Given the description of an element on the screen output the (x, y) to click on. 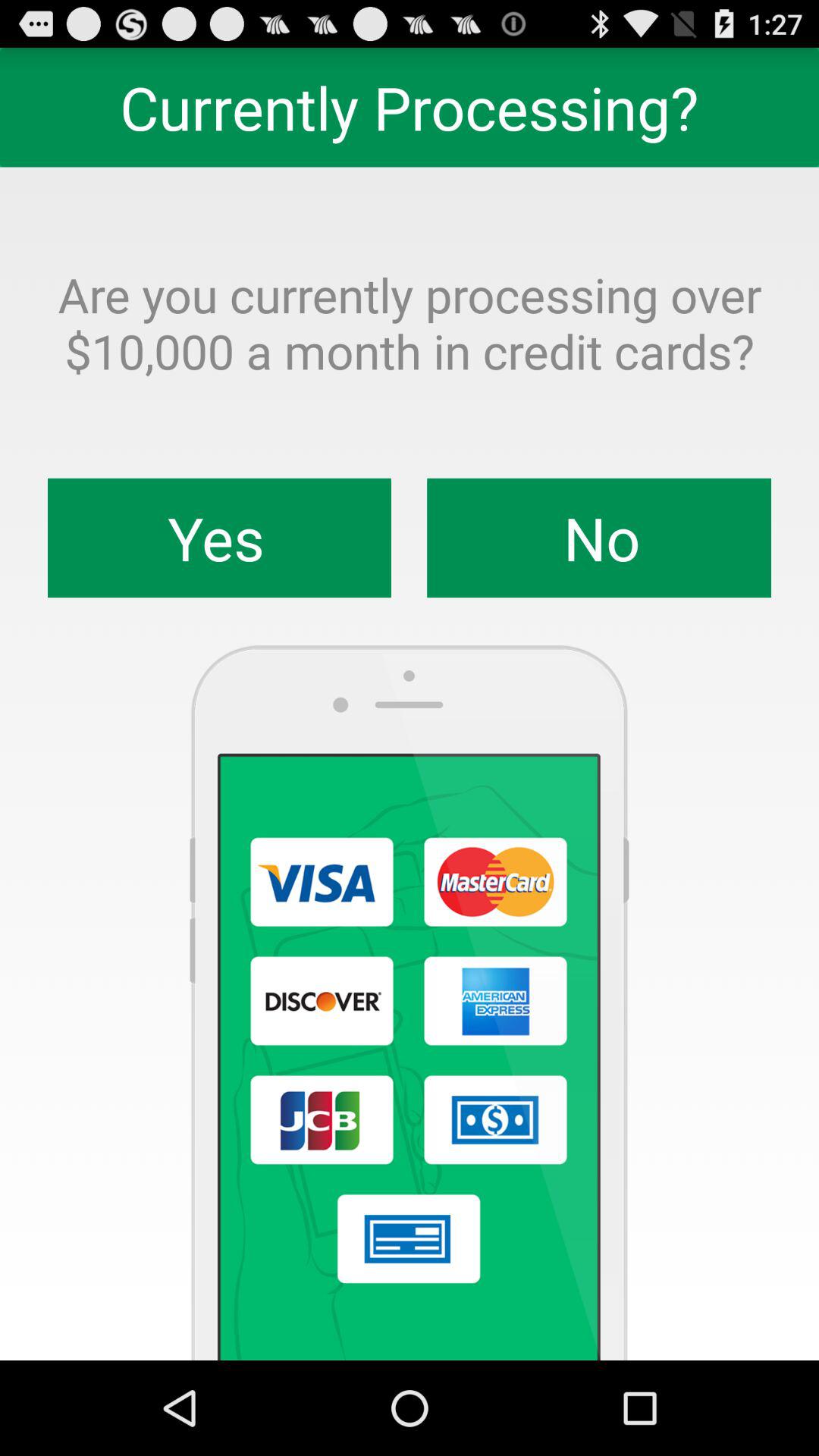
turn off icon on the right (599, 537)
